Given the description of an element on the screen output the (x, y) to click on. 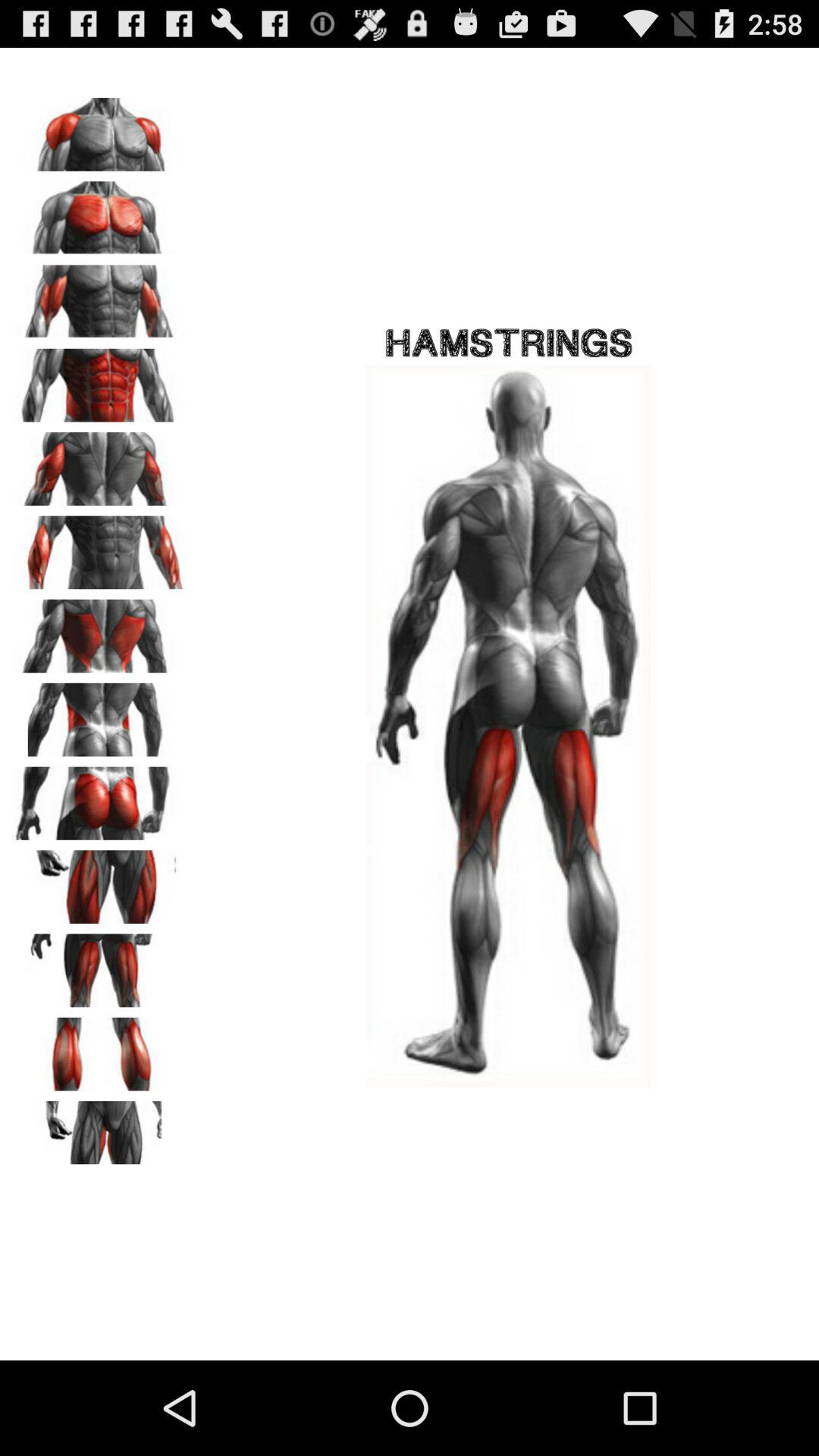
change target muscle (99, 1048)
